Given the description of an element on the screen output the (x, y) to click on. 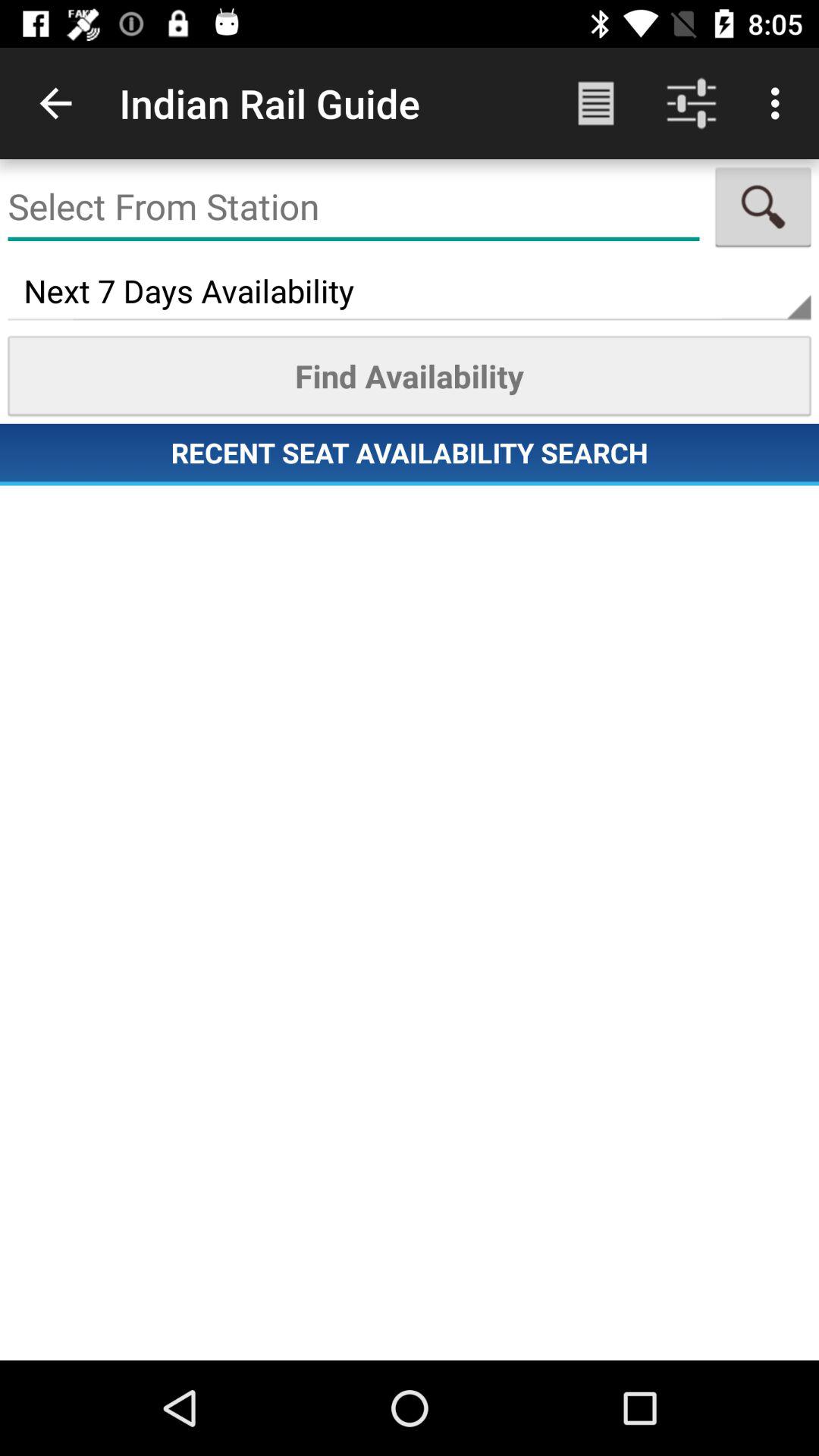
launch find availability item (409, 375)
